Given the description of an element on the screen output the (x, y) to click on. 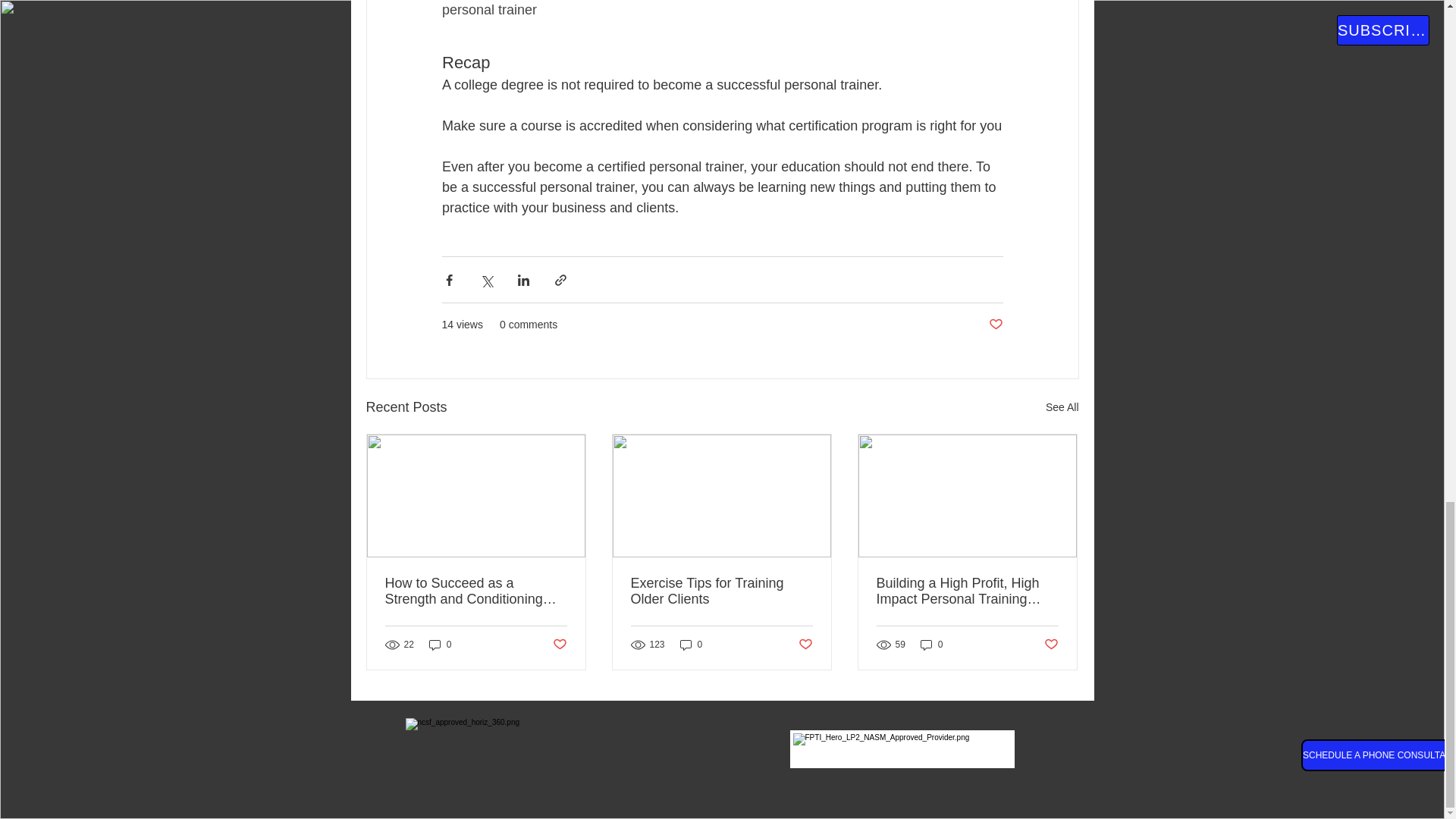
Post not marked as liked (995, 324)
0 (691, 644)
See All (1061, 407)
How to Succeed as a Strength and Conditioning Coach (476, 591)
Exercise Tips for Training Older Clients (721, 591)
Post not marked as liked (558, 644)
0 (440, 644)
Post not marked as liked (804, 644)
